Given the description of an element on the screen output the (x, y) to click on. 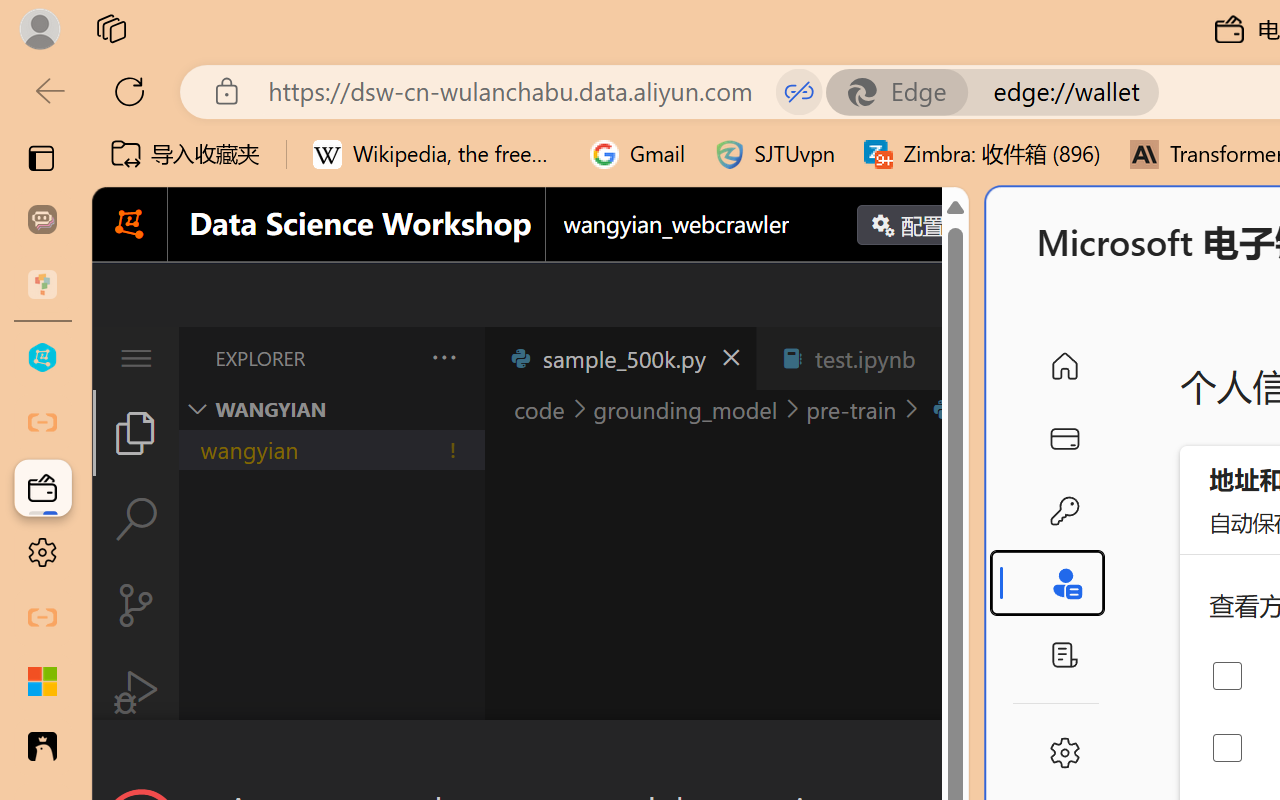
Source Control (Ctrl+Shift+G) (135, 604)
wangyian_dsw - DSW (42, 357)
Class: actions-container (529, 756)
